Given the description of an element on the screen output the (x, y) to click on. 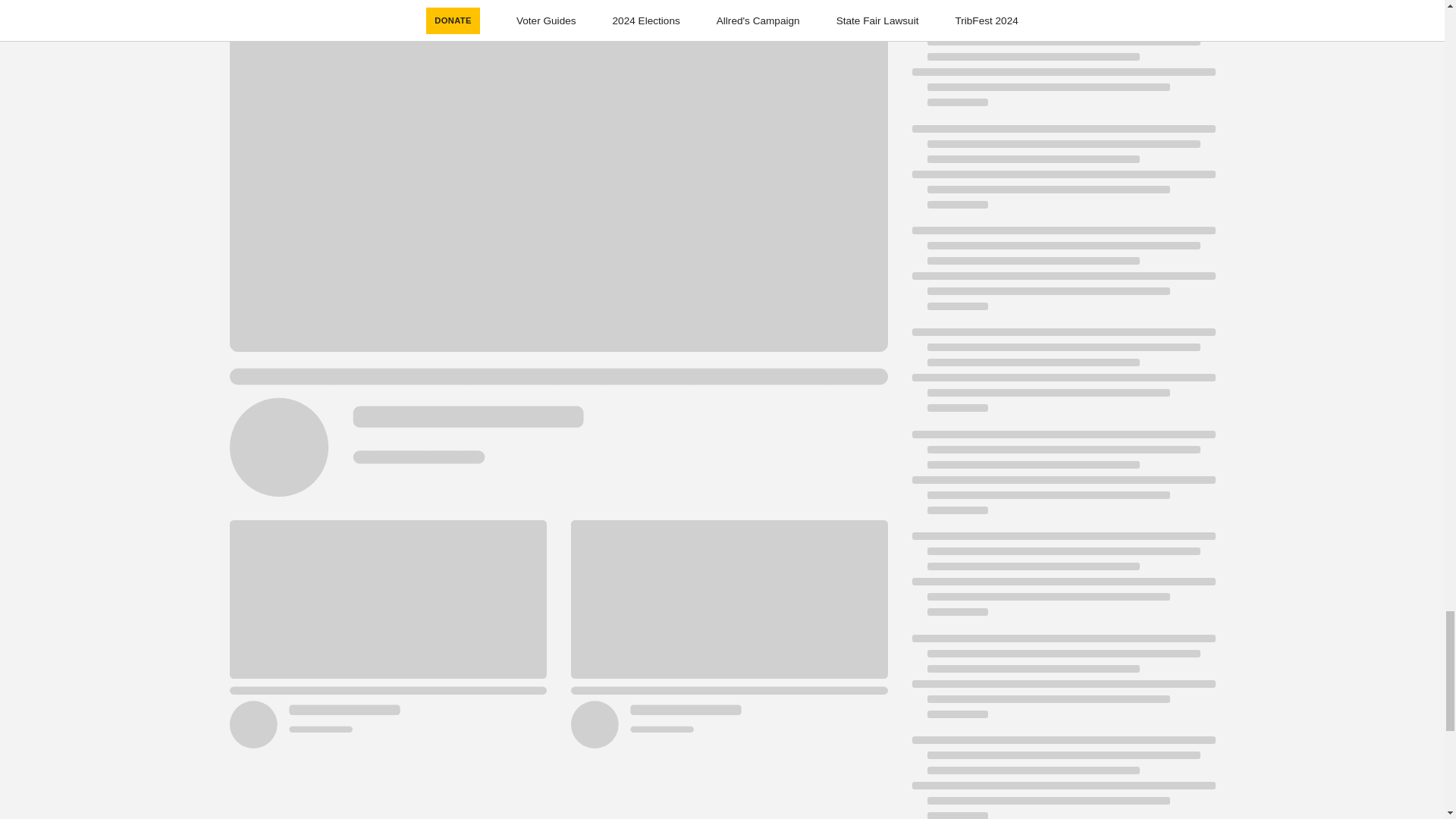
Loading indicator (1062, 581)
Loading indicator (1062, 174)
Loading indicator (1062, 275)
Loading indicator (1062, 377)
Loading indicator (1062, 479)
Loading indicator (1062, 682)
Loading indicator (1062, 71)
Loading indicator (1062, 777)
